Given the description of an element on the screen output the (x, y) to click on. 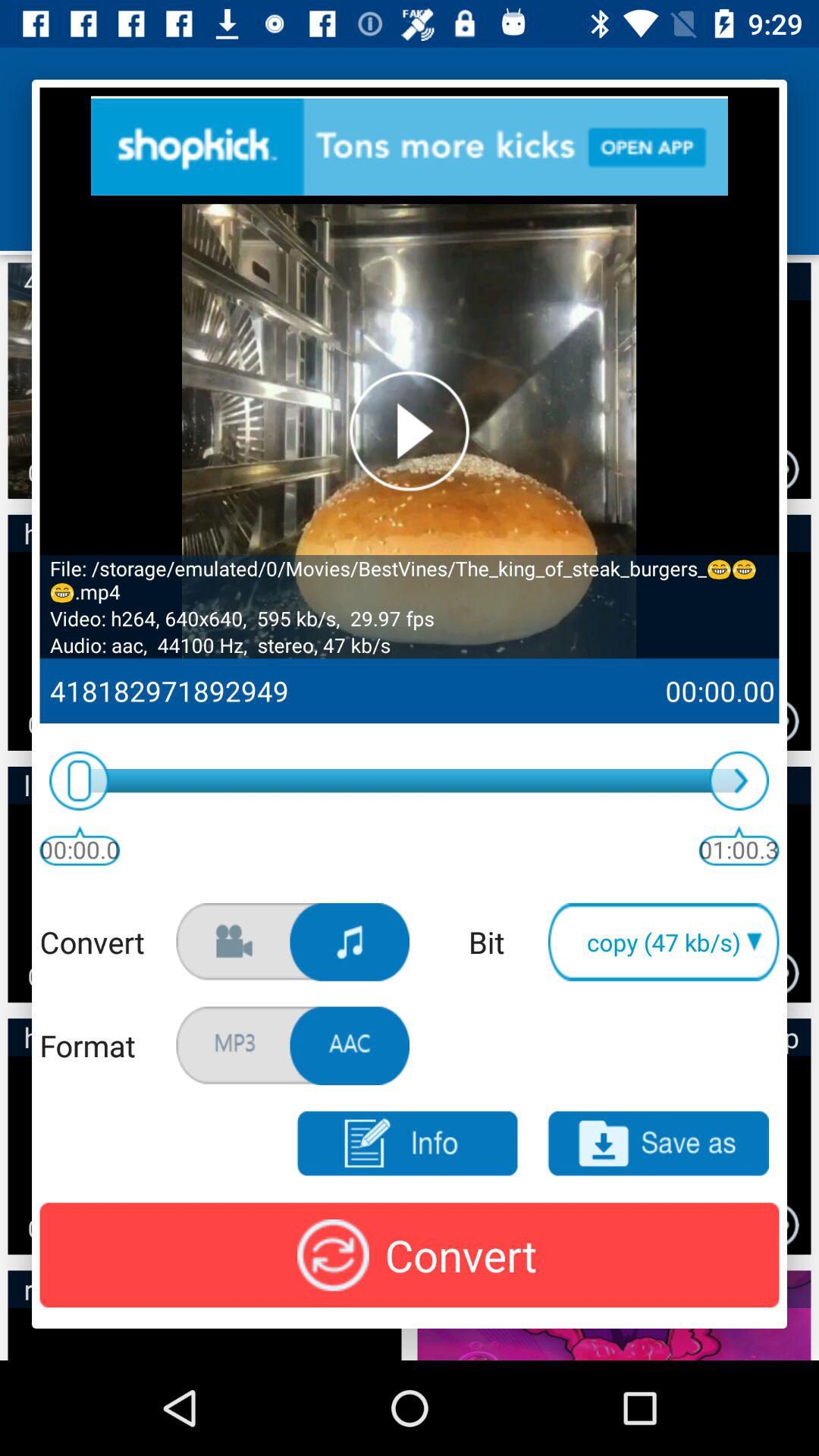
click music (349, 942)
